Given the description of an element on the screen output the (x, y) to click on. 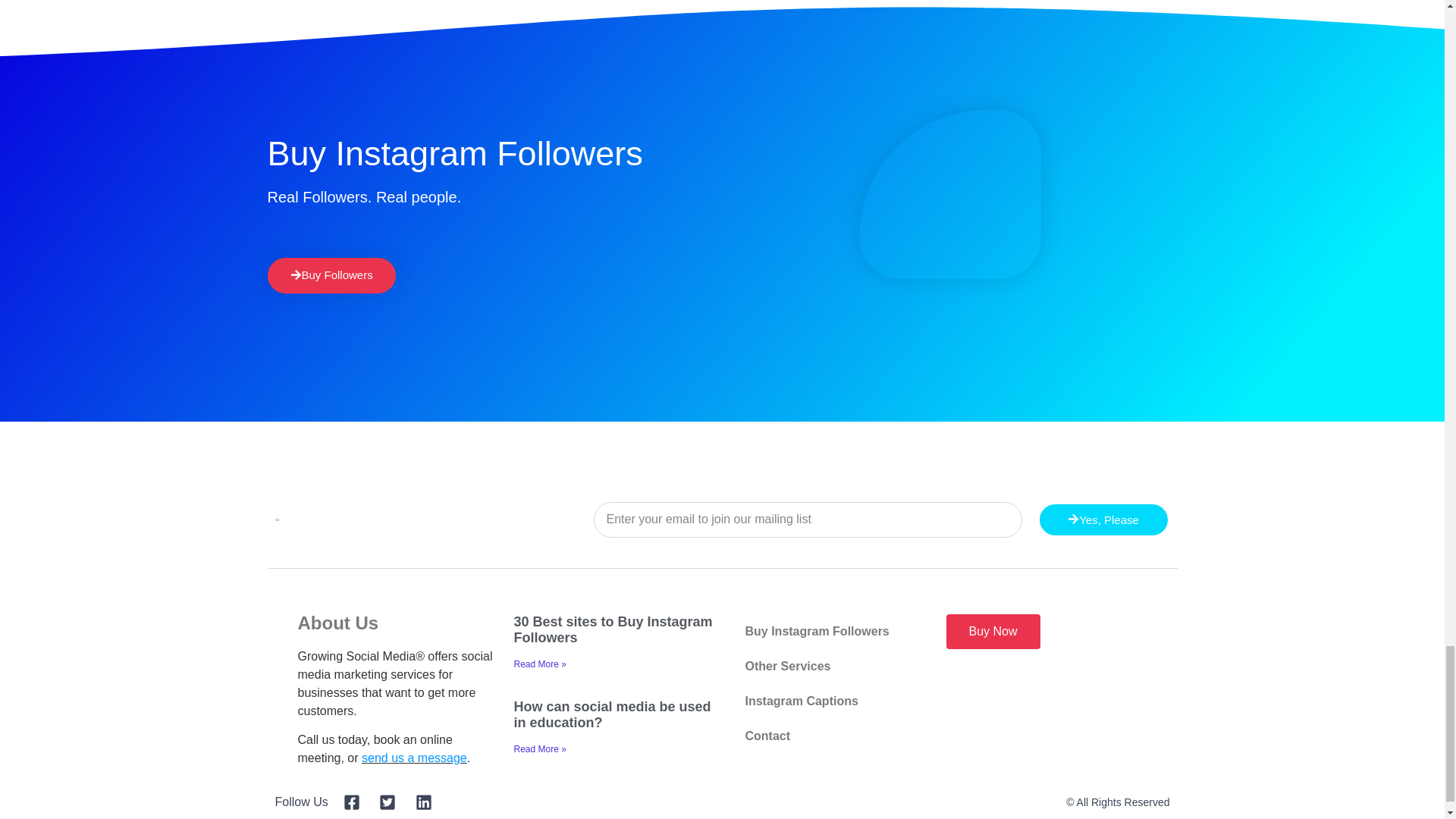
How can social media be used in education? (612, 715)
Instagram Captions (829, 701)
Other Services (829, 666)
Buy Followers (330, 275)
send us a message (414, 757)
Contact (829, 736)
Buy Instagram Followers (829, 631)
30 Best sites to Buy Instagram Followers (613, 630)
Yes, Please (1103, 519)
